Given the description of an element on the screen output the (x, y) to click on. 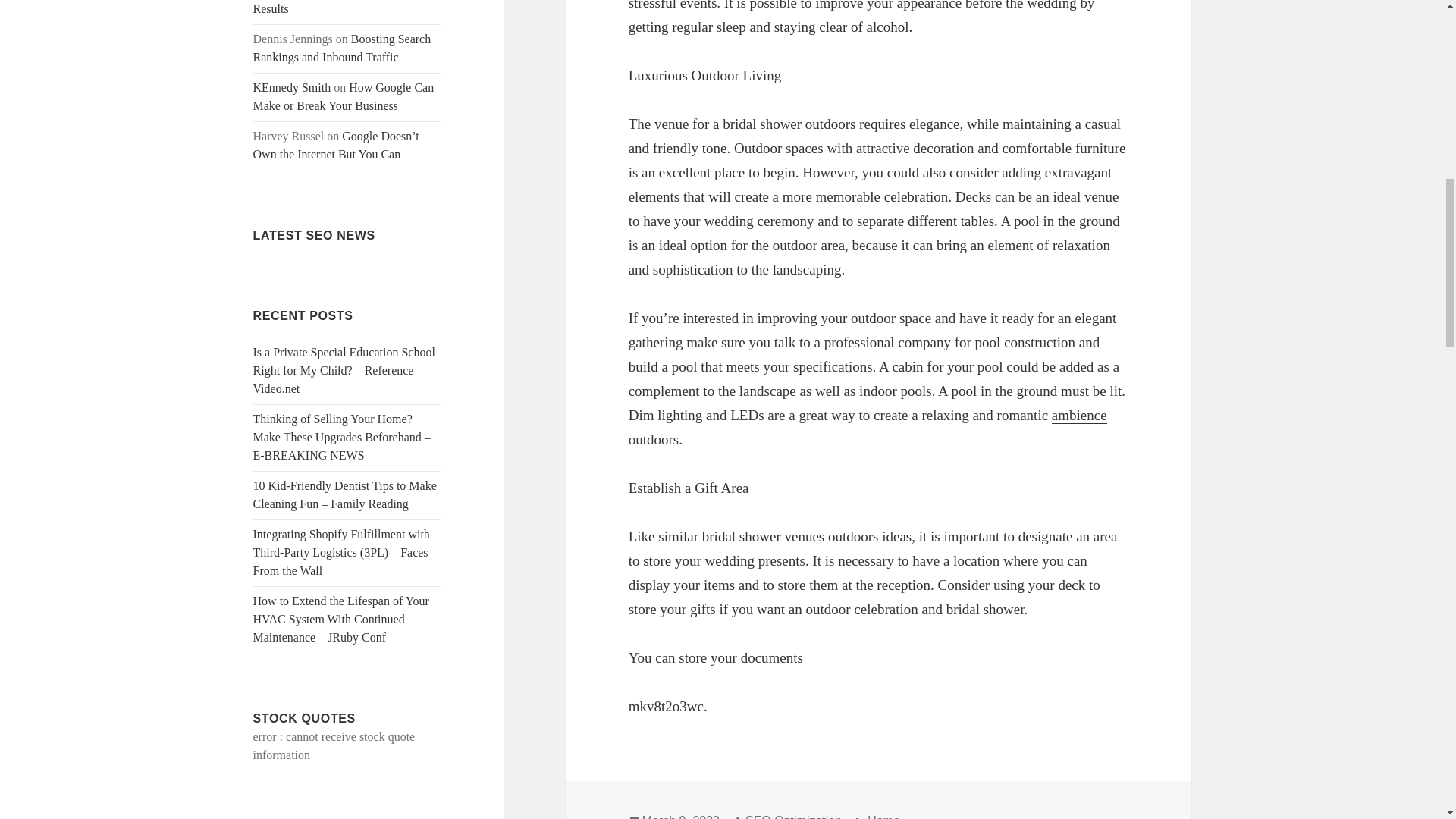
KEnnedy Smith (292, 87)
How Google Can Make or Break Your Business (343, 96)
Boosting Search Rankings and Inbound Traffic (341, 47)
